Given the description of an element on the screen output the (x, y) to click on. 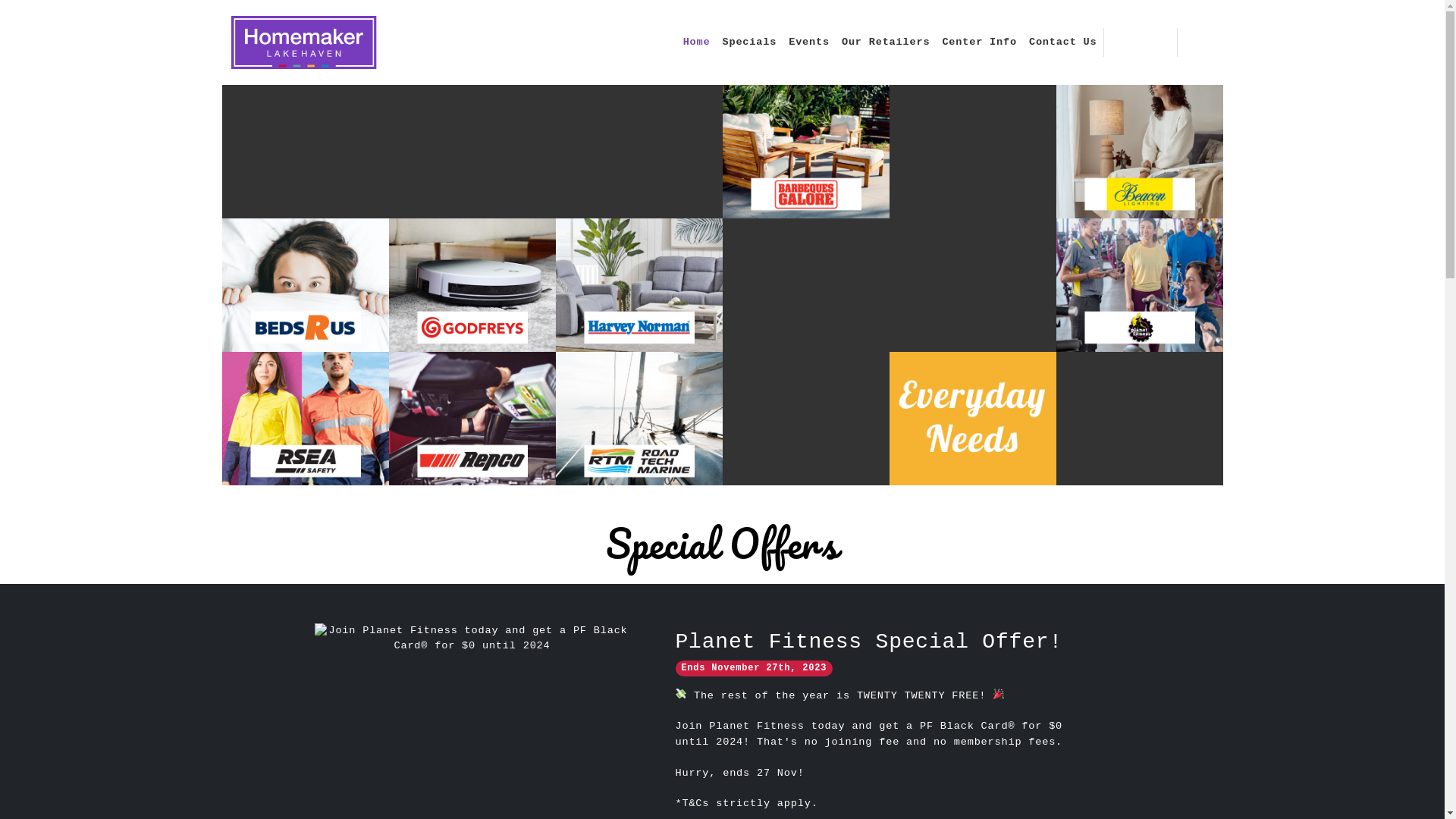
Our Retailers Element type: text (885, 42)
Center Info Element type: text (978, 42)
Events Element type: text (808, 42)
Special Offers Element type: text (722, 543)
Home Element type: text (696, 42)
Contact Us Element type: text (1062, 42)
Specials Element type: text (748, 42)
